Given the description of an element on the screen output the (x, y) to click on. 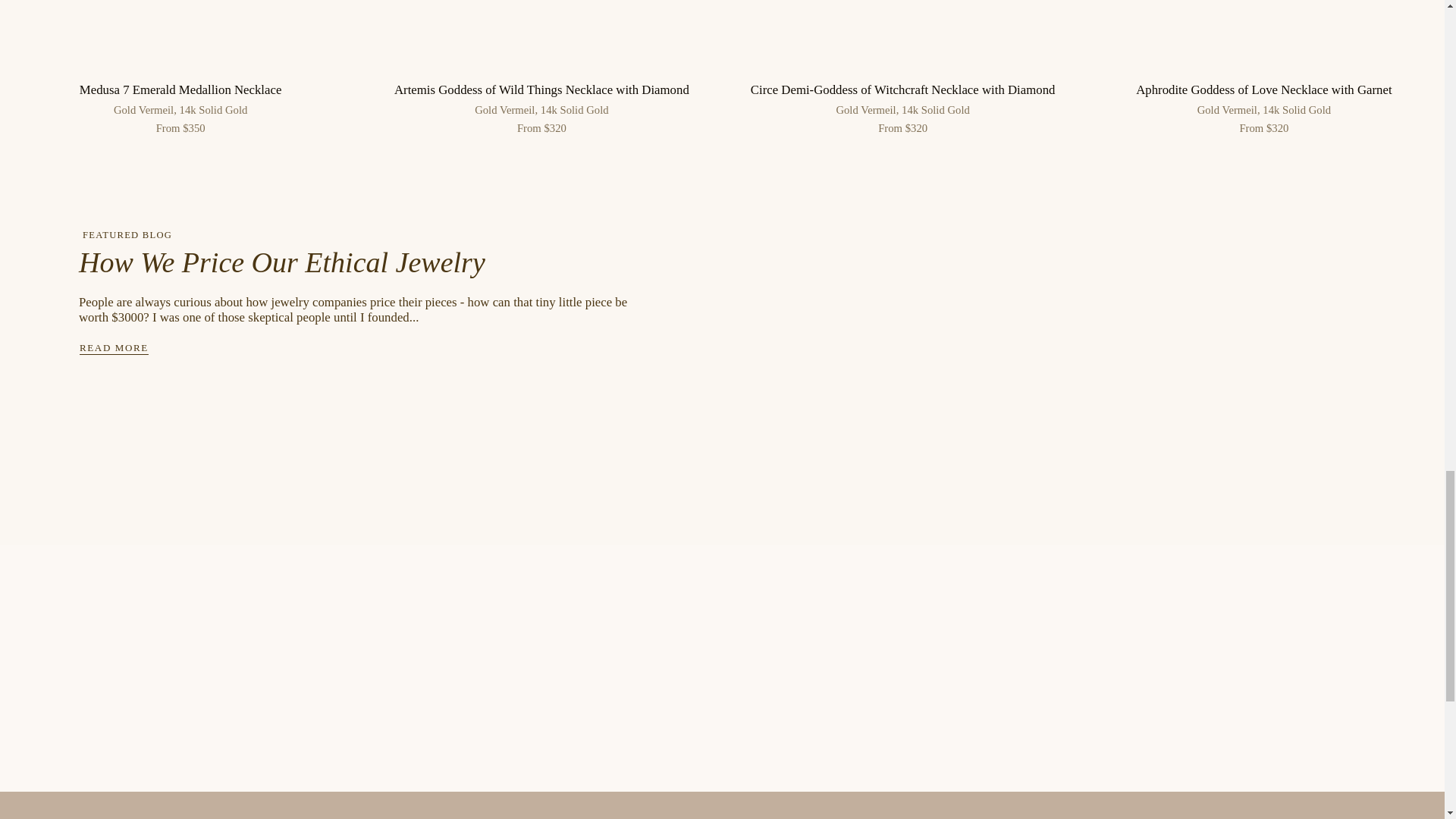
How We Price Our Ethical Jewelry (281, 262)
